Given the description of an element on the screen output the (x, y) to click on. 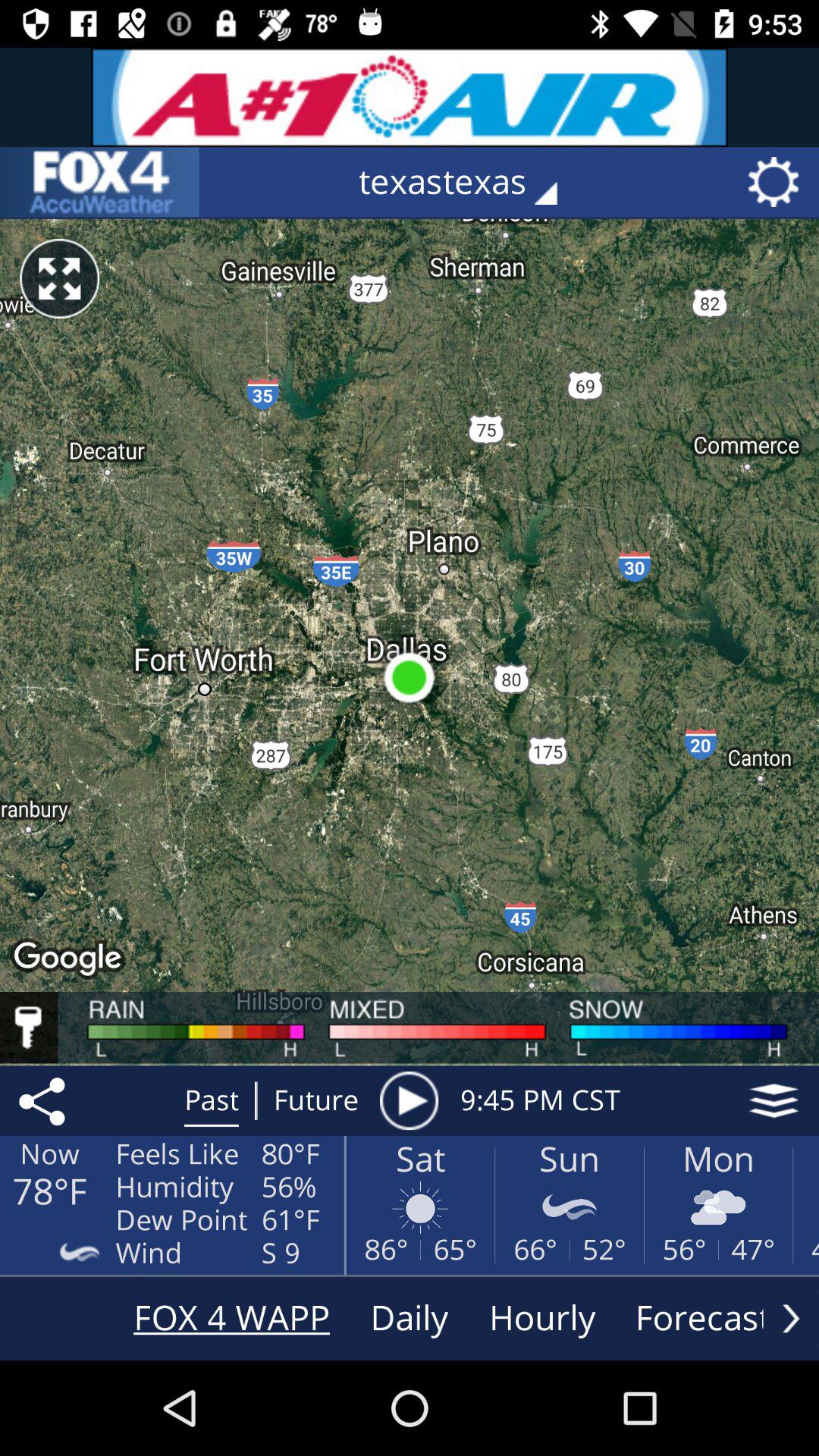
find the key to the map (29, 1027)
